Given the description of an element on the screen output the (x, y) to click on. 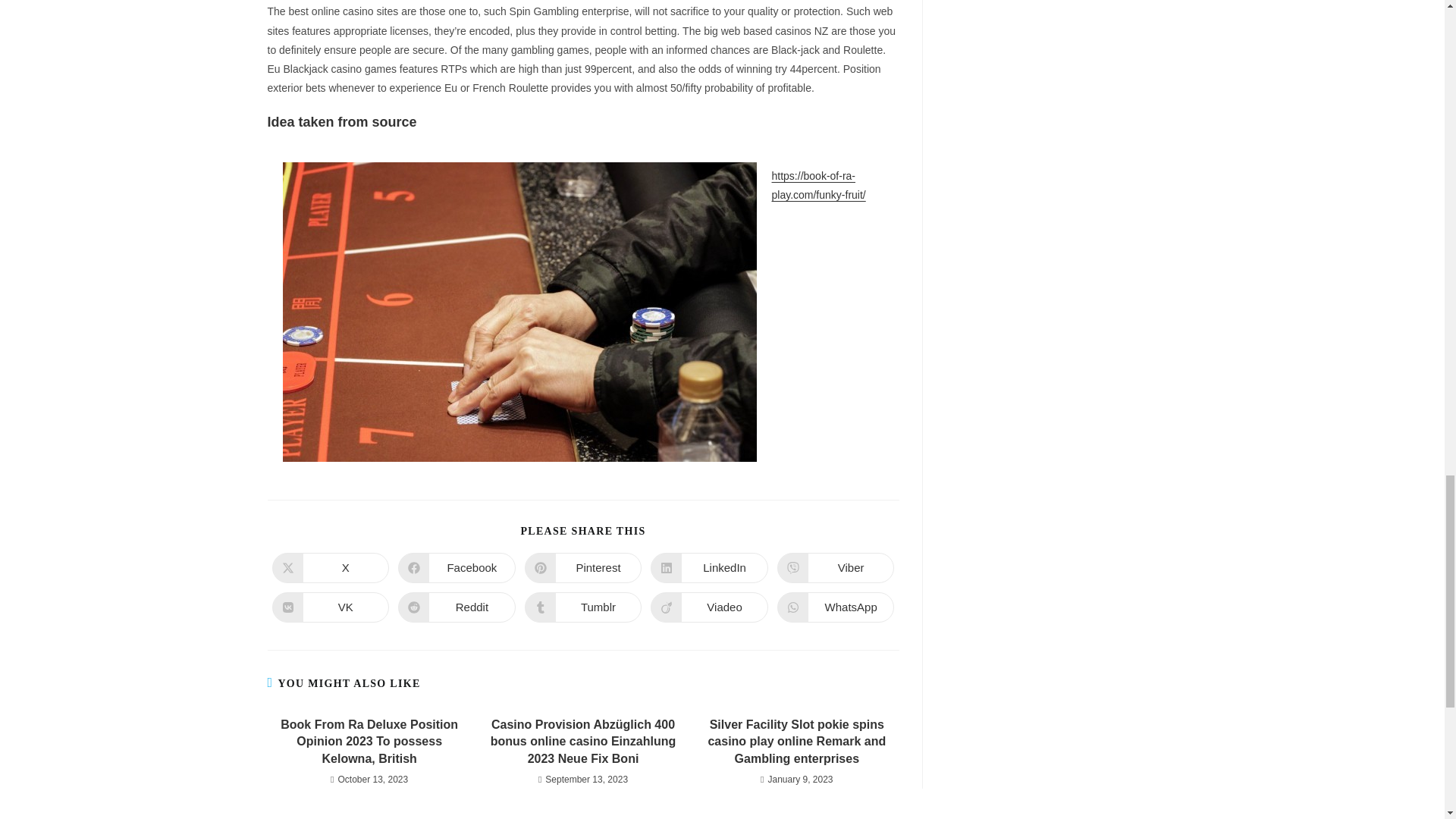
WhatsApp (836, 607)
Pinterest (583, 567)
Viadeo (709, 607)
Viber (836, 567)
LinkedIn (709, 567)
VK (329, 607)
Facebook (456, 567)
X (329, 567)
Tumblr (583, 607)
Reddit (456, 607)
